Given the description of an element on the screen output the (x, y) to click on. 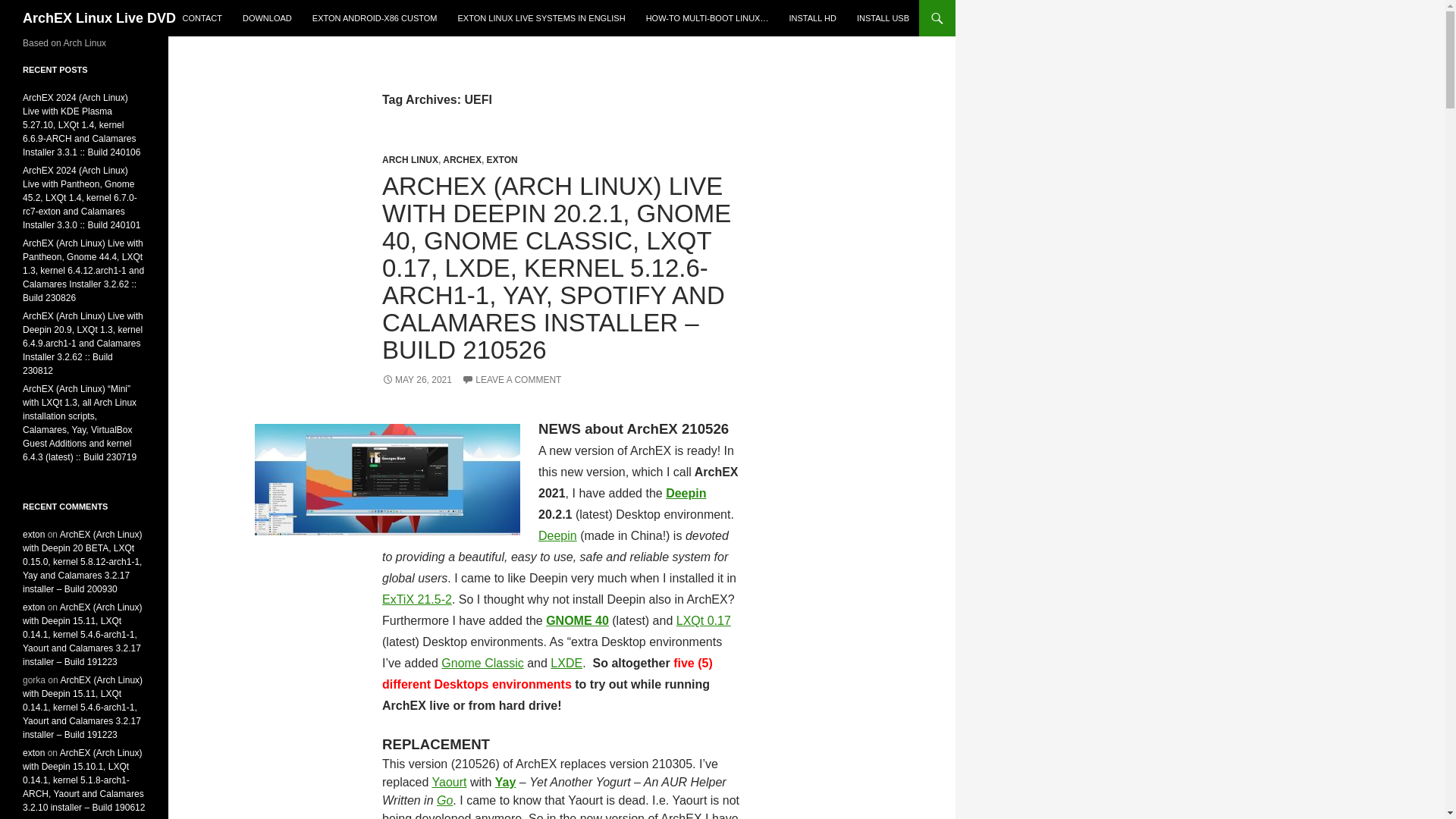
EXTON LINUX LIVE SYSTEMS IN ENGLISH (541, 18)
Gnome Classic (481, 662)
EXTON (502, 159)
ARCHEX (461, 159)
Yay (505, 781)
INSTALL HD (811, 18)
CONTACT (202, 18)
LXQt 0.17 (703, 620)
MAY 26, 2021 (416, 379)
ExTiX 21.5-2 (416, 599)
LEAVE A COMMENT (510, 379)
ArchEX Linux Live DVD (99, 18)
Deepin (557, 535)
Go (444, 799)
Deepin (685, 492)
